Given the description of an element on the screen output the (x, y) to click on. 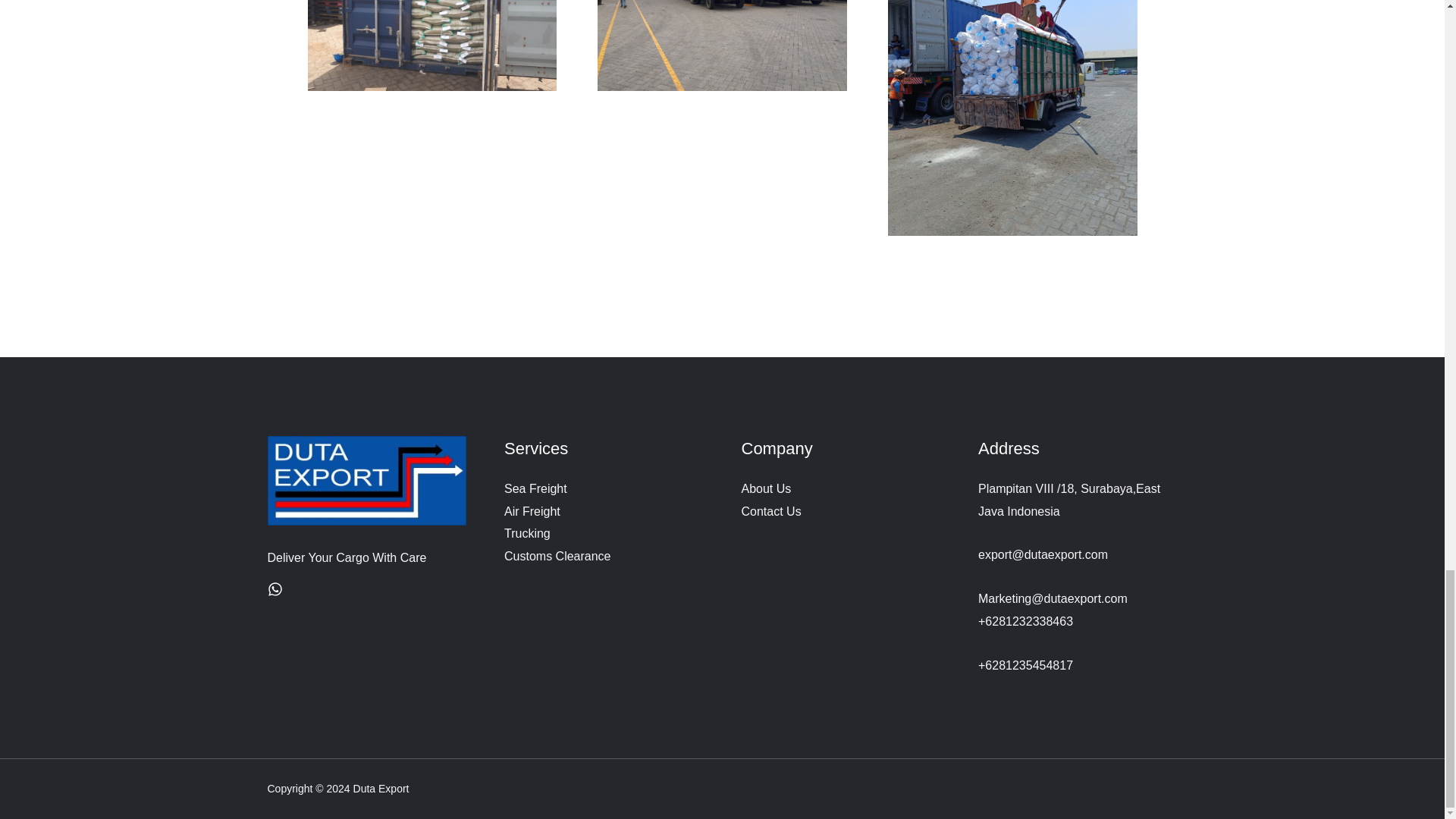
About Us (766, 488)
Air Freight (531, 511)
Sea Freight (535, 488)
Contact Us (771, 511)
Customs Clearance (557, 555)
Trucking (526, 533)
